Given the description of an element on the screen output the (x, y) to click on. 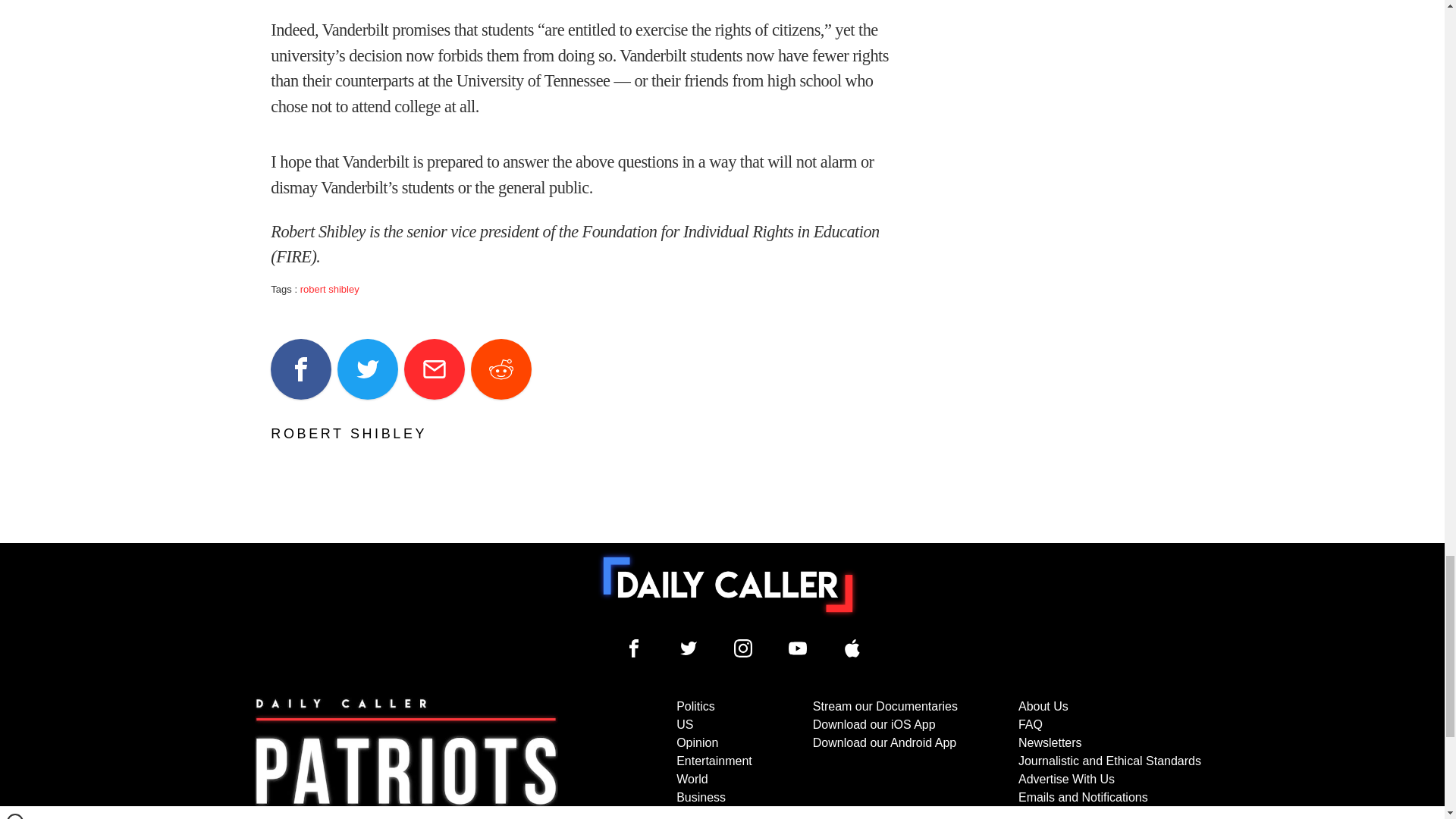
Daily Caller Twitter (688, 648)
Daily Caller YouTube (852, 648)
Daily Caller YouTube (797, 648)
Subscribe to The Daily Caller (405, 758)
To home page (727, 583)
Daily Caller Instagram (742, 648)
Daily Caller Facebook (633, 648)
robert shibley (329, 288)
